Given the description of an element on the screen output the (x, y) to click on. 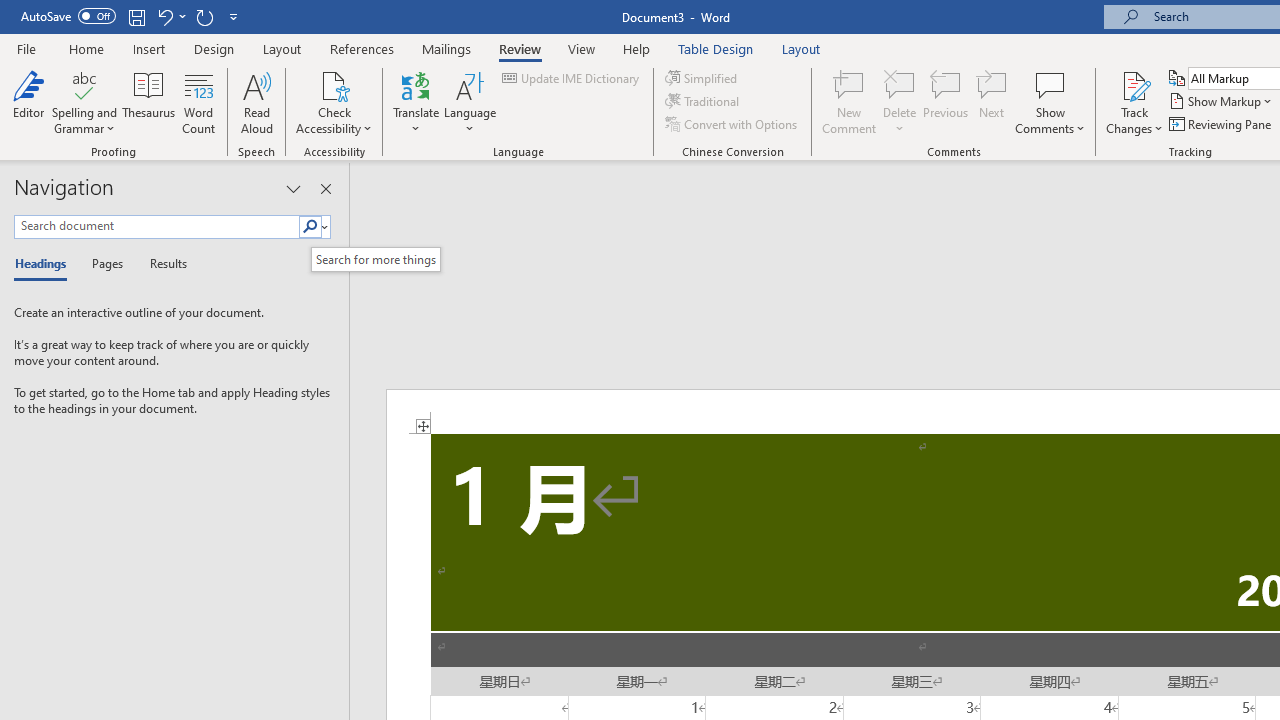
Language (470, 102)
Spelling and Grammar (84, 84)
Thesaurus... (148, 102)
Word Count (198, 102)
Spelling and Grammar (84, 102)
Search for more things (376, 259)
Check Accessibility (334, 102)
